Given the description of an element on the screen output the (x, y) to click on. 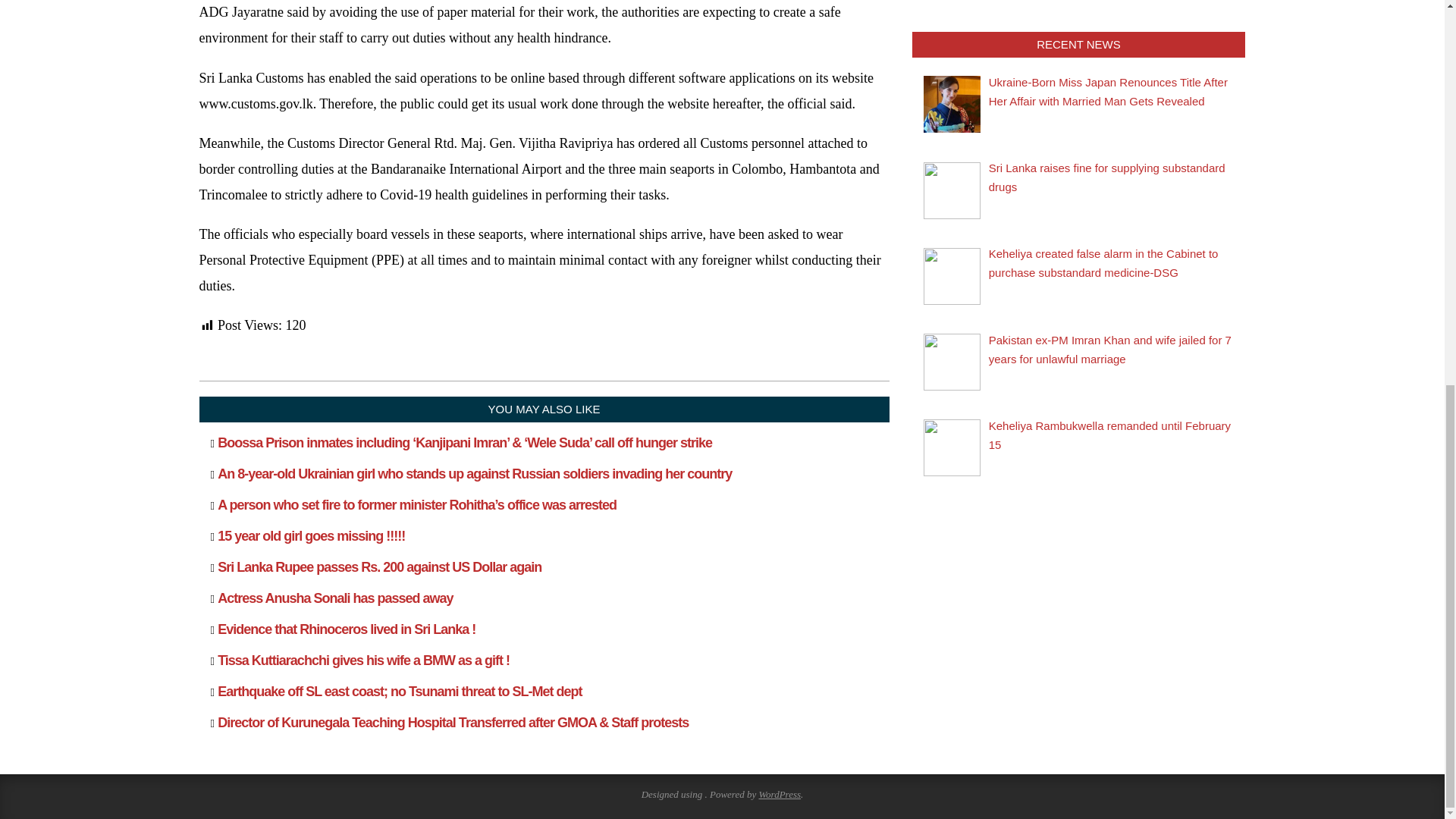
Tissa Kuttiarachchi gives his wife a BMW as a gift ! (362, 660)
Actress Anusha Sonali has passed away (334, 598)
Sri Lanka Rupee passes Rs. 200 against US Dollar again (378, 566)
15 year old girl goes missing !!!!! (310, 535)
Evidence that Rhinoceros lived in Sri Lanka ! (346, 629)
Keheliya Rambukwella remanded until February 15 (1109, 435)
Sri Lanka raises fine for supplying substandard drugs (1106, 177)
WordPress (779, 794)
